Given the description of an element on the screen output the (x, y) to click on. 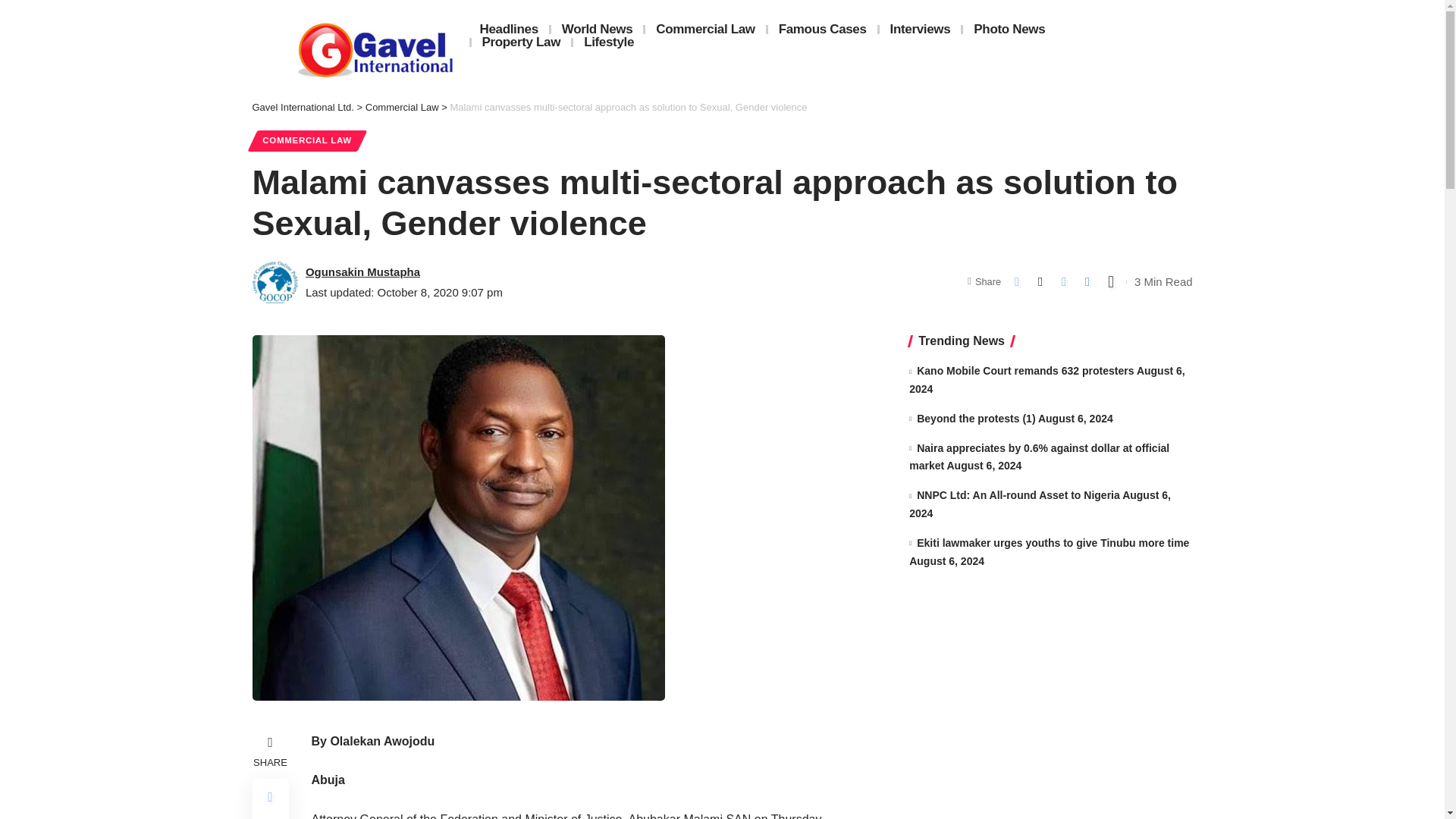
Photo News (1008, 29)
Gavel International Ltd. (302, 107)
Commercial Law (402, 107)
NNPC Ltd: An All-round Asset to Nigeria (1018, 494)
COMMERCIAL LAW (306, 140)
Famous Cases (822, 29)
Go to Gavel International Ltd.. (302, 107)
Headlines (508, 29)
World News (597, 29)
Interviews (919, 29)
Go to the Commercial Law Category archives. (402, 107)
Property Law (521, 42)
Ekiti lawmaker urges youths to give Tinubu more time (1053, 542)
Kano Mobile Court remands 632 protesters (1025, 370)
Ogunsakin Mustapha (362, 271)
